Given the description of an element on the screen output the (x, y) to click on. 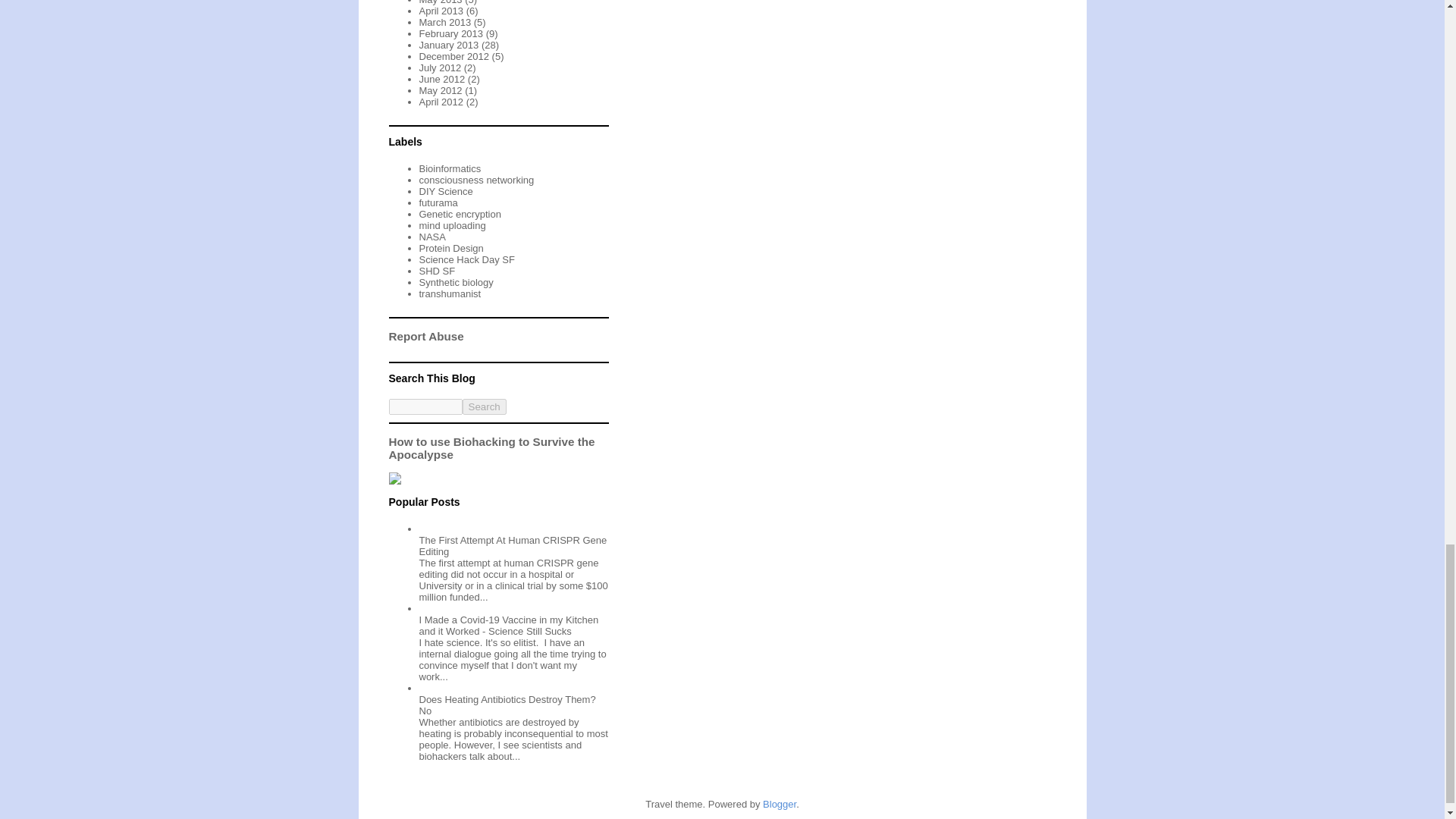
Search (484, 406)
Search (484, 406)
search (484, 406)
search (424, 406)
